Given the description of an element on the screen output the (x, y) to click on. 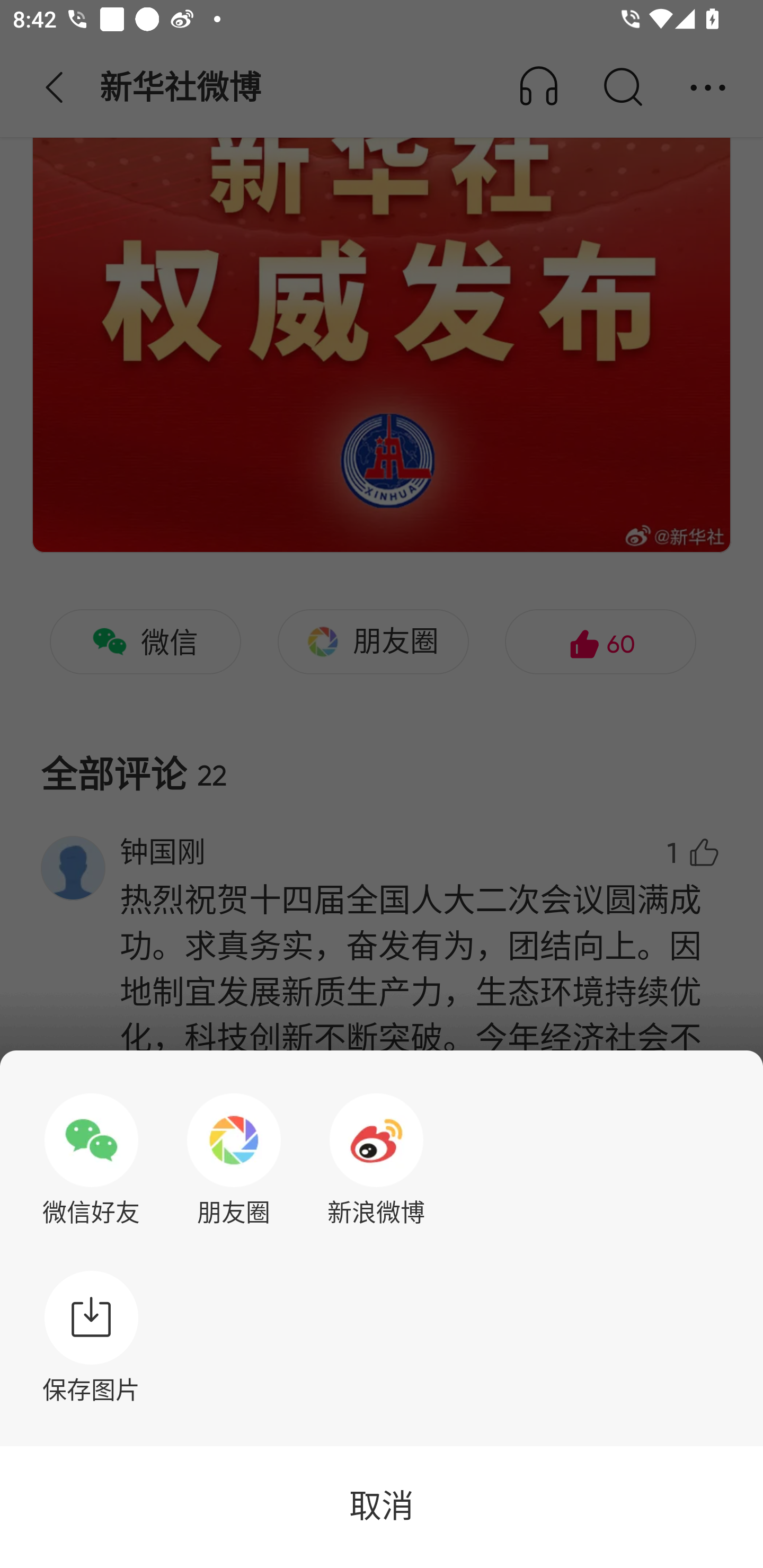
微信好友 (90, 1159)
朋友圈 (233, 1159)
新浪微博 (376, 1159)
 保存图片 保存图片 (90, 1337)
取消 (381, 1506)
